Given the description of an element on the screen output the (x, y) to click on. 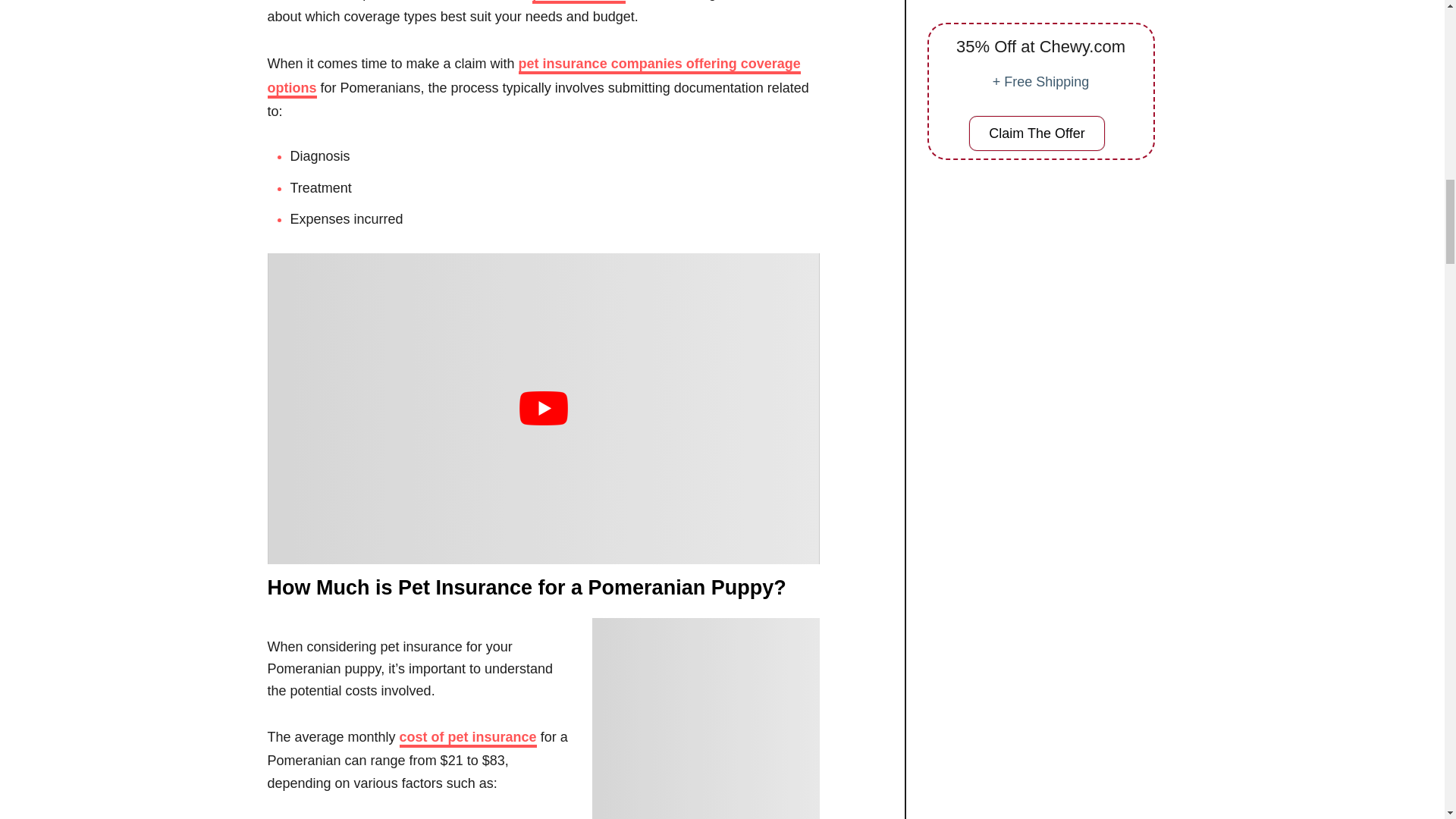
pros and cons (579, 2)
pros and cons (579, 2)
cost of pet insurance (467, 738)
pet insurance companies offering coverage options (532, 77)
